Given the description of an element on the screen output the (x, y) to click on. 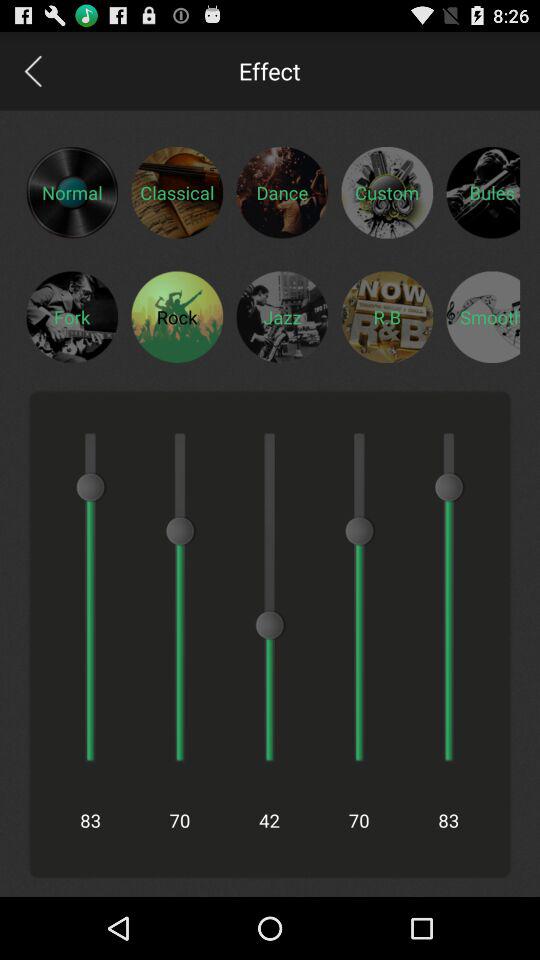
fork effect in audio amanger (72, 316)
